Given the description of an element on the screen output the (x, y) to click on. 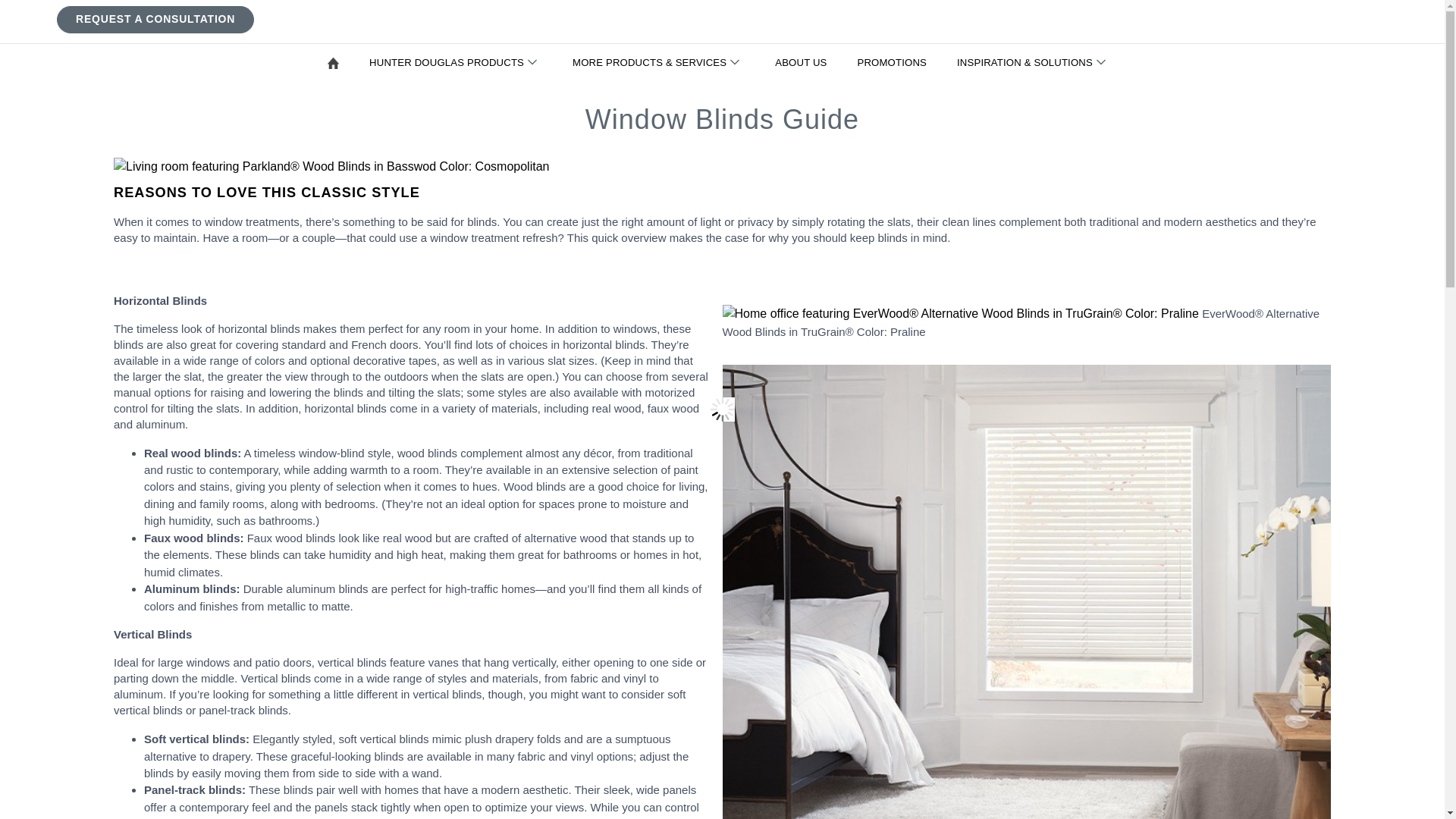
REQUEST A CONSULTATION (155, 18)
HUNTER DOUGLAS PRODUCTS (458, 62)
PROMOTIONS (894, 62)
ABOUT US (803, 62)
